Given the description of an element on the screen output the (x, y) to click on. 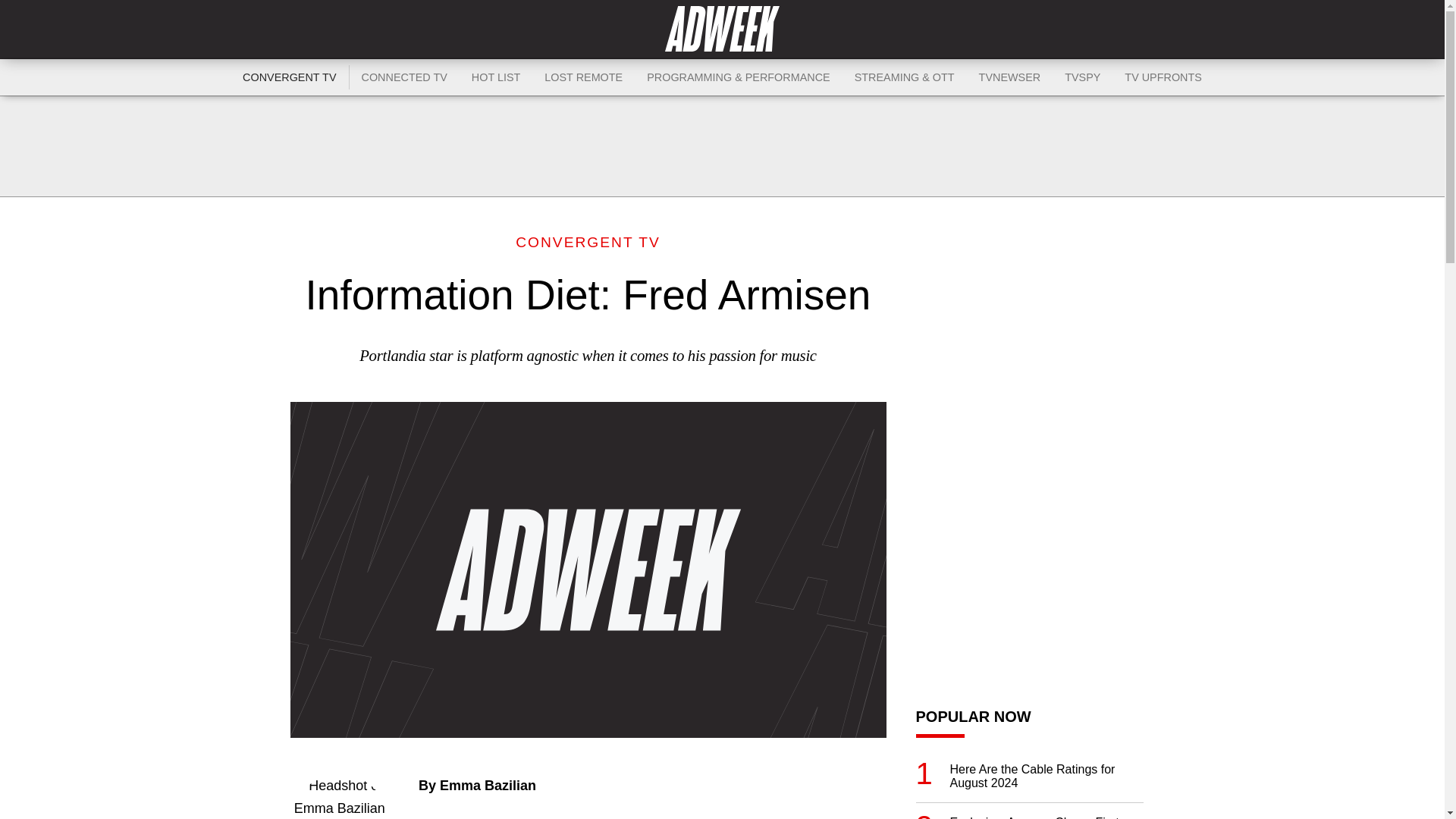
Emma Bazilian (487, 785)
CONNECTED TV (404, 77)
CONVERGENT TV (289, 77)
TV UPFRONTS (1163, 77)
CONVERGENT TV (588, 242)
TVSPY (1082, 77)
LOST REMOTE (583, 77)
HOT LIST (496, 77)
